Given the description of an element on the screen output the (x, y) to click on. 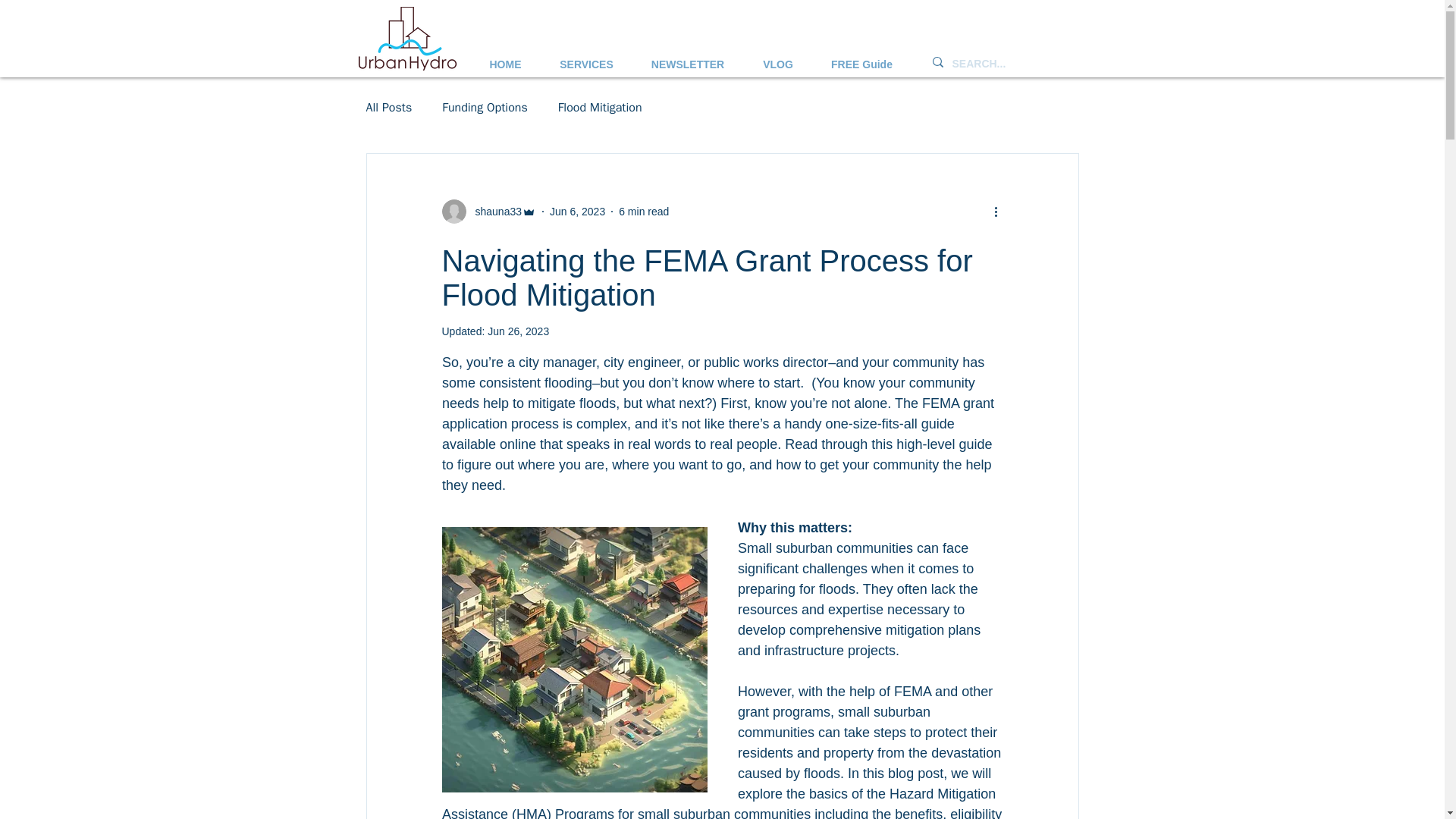
FREE Guide (861, 57)
shauna33 (493, 211)
Flood Mitigation (599, 107)
Jun 6, 2023 (577, 210)
HOME (505, 57)
SERVICES (586, 57)
All Posts (388, 107)
shauna33 (488, 211)
Funding Options (484, 107)
NEWSLETTER (687, 57)
